Given the description of an element on the screen output the (x, y) to click on. 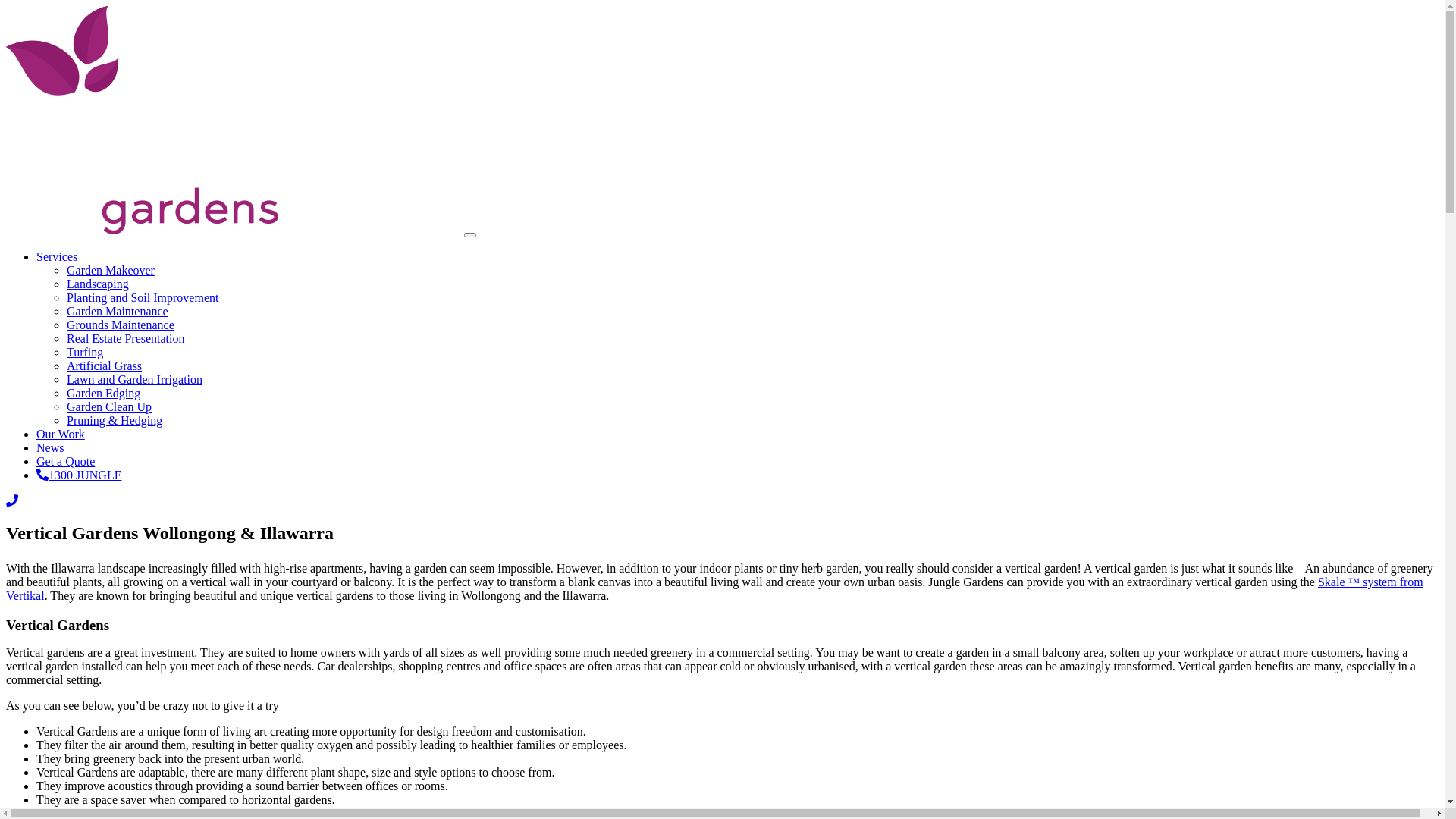
Pruning & Hedging Element type: text (114, 420)
1300 JUNGLE Element type: hover (12, 500)
Get a Quote Element type: text (65, 461)
Real Estate Presentation Element type: text (125, 338)
Garden Maintenance Element type: text (117, 310)
Planting and Soil Improvement Element type: text (142, 297)
Artificial Grass Element type: text (103, 365)
News Element type: text (49, 447)
Our Work Element type: text (60, 433)
1300 JUNGLE Element type: text (78, 474)
Turfing Element type: text (84, 351)
Landscaping Element type: text (97, 283)
Garden Makeover Element type: text (110, 269)
Garden Edging Element type: text (103, 392)
Services Element type: text (56, 256)
Lawn and Garden Irrigation Element type: text (134, 379)
Garden Clean Up Element type: text (108, 406)
Grounds Maintenance Element type: text (120, 324)
